Given the description of an element on the screen output the (x, y) to click on. 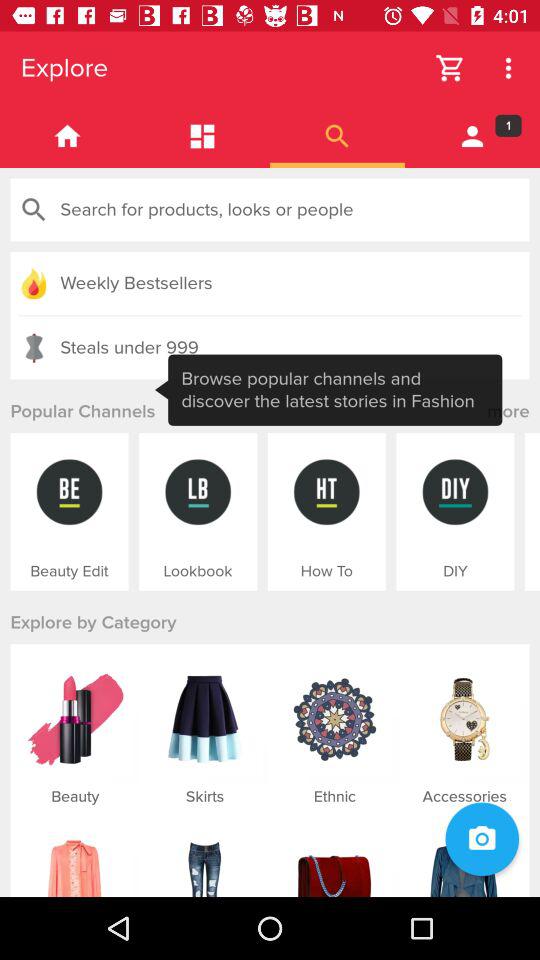
select the image below ethnic (335, 857)
